Given the description of an element on the screen output the (x, y) to click on. 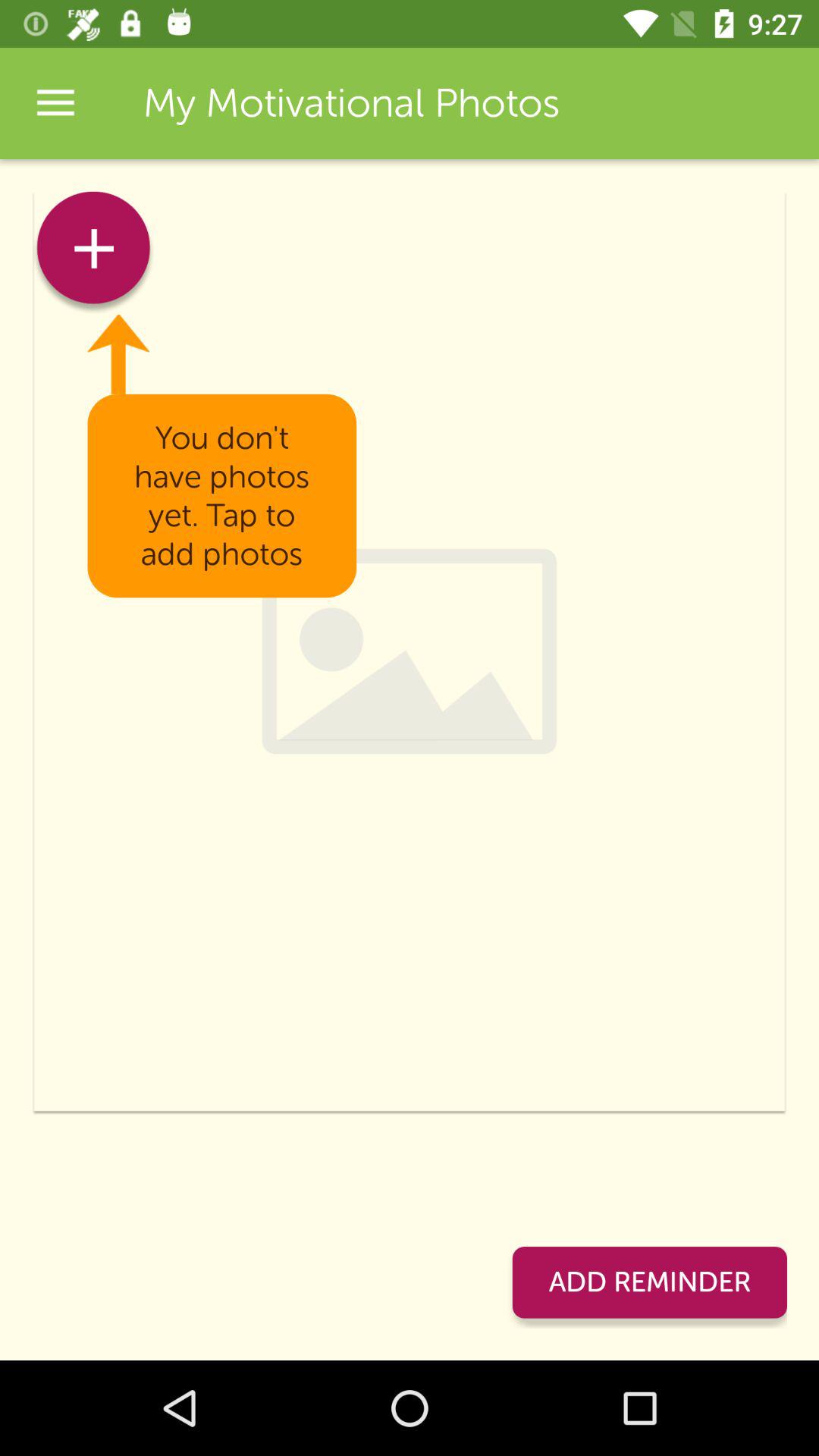
swipe to add reminder item (649, 1282)
